Given the description of an element on the screen output the (x, y) to click on. 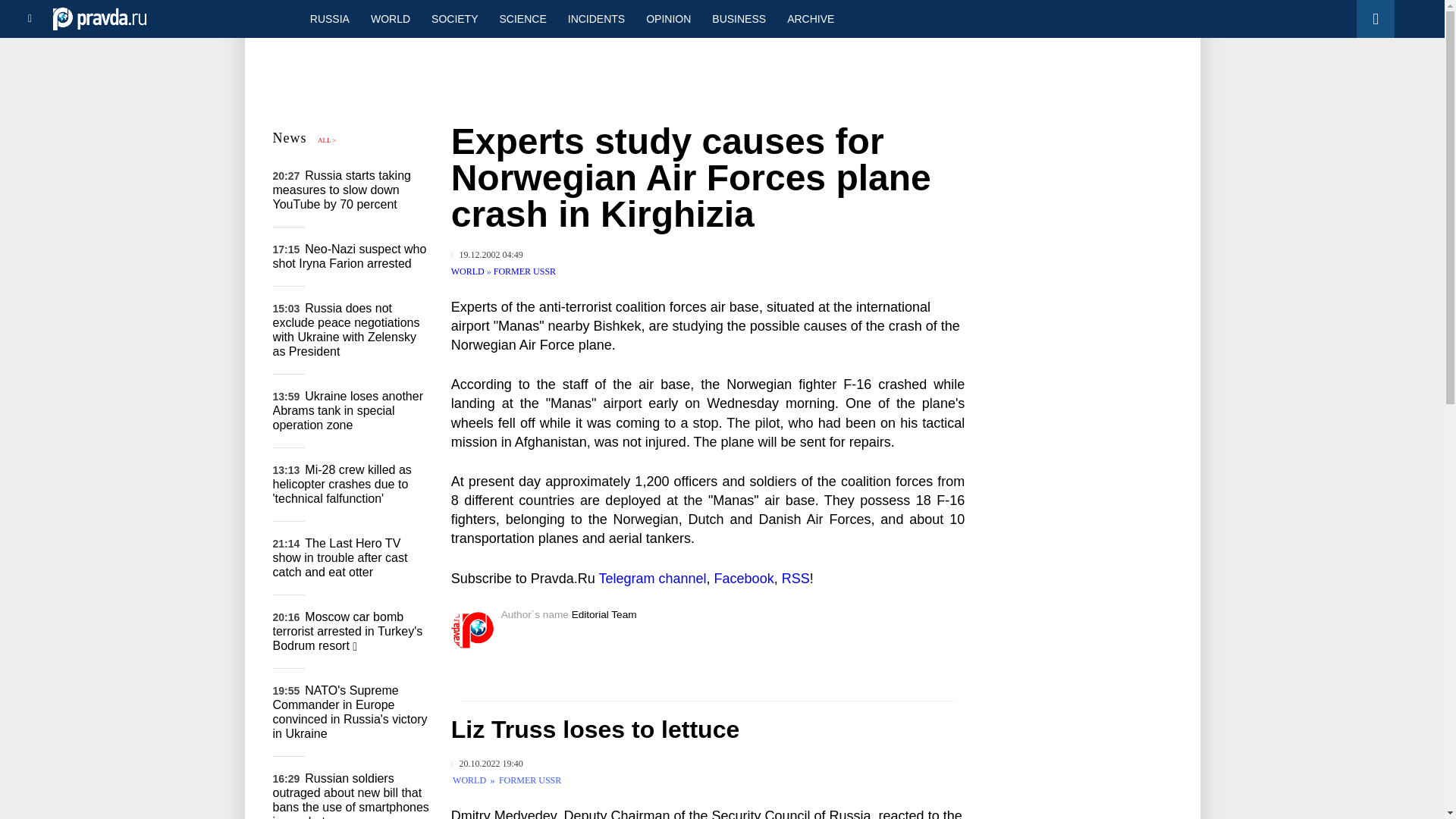
Editorial Team (604, 614)
RUSSIA (329, 18)
WORLD (389, 18)
RSS (795, 578)
OPINION (667, 18)
INCIDENTS (595, 18)
Moscow car bomb terrorist arrested in Turkey's Bodrum resort (348, 630)
SCIENCE (523, 18)
News (290, 137)
Facebook (744, 578)
ARCHIVE (810, 18)
